Given the description of an element on the screen output the (x, y) to click on. 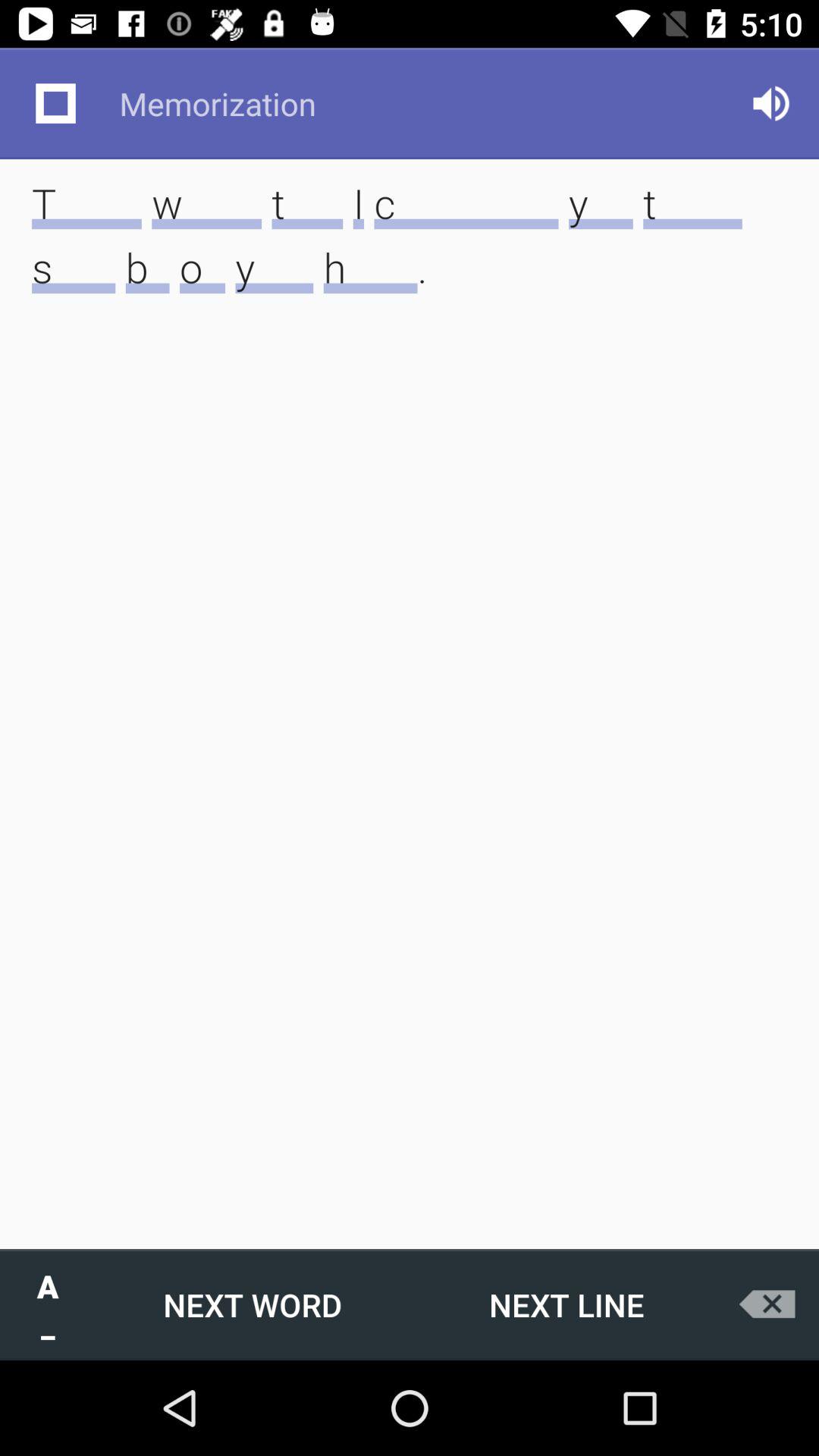
tap icon at the top right corner (771, 103)
